Given the description of an element on the screen output the (x, y) to click on. 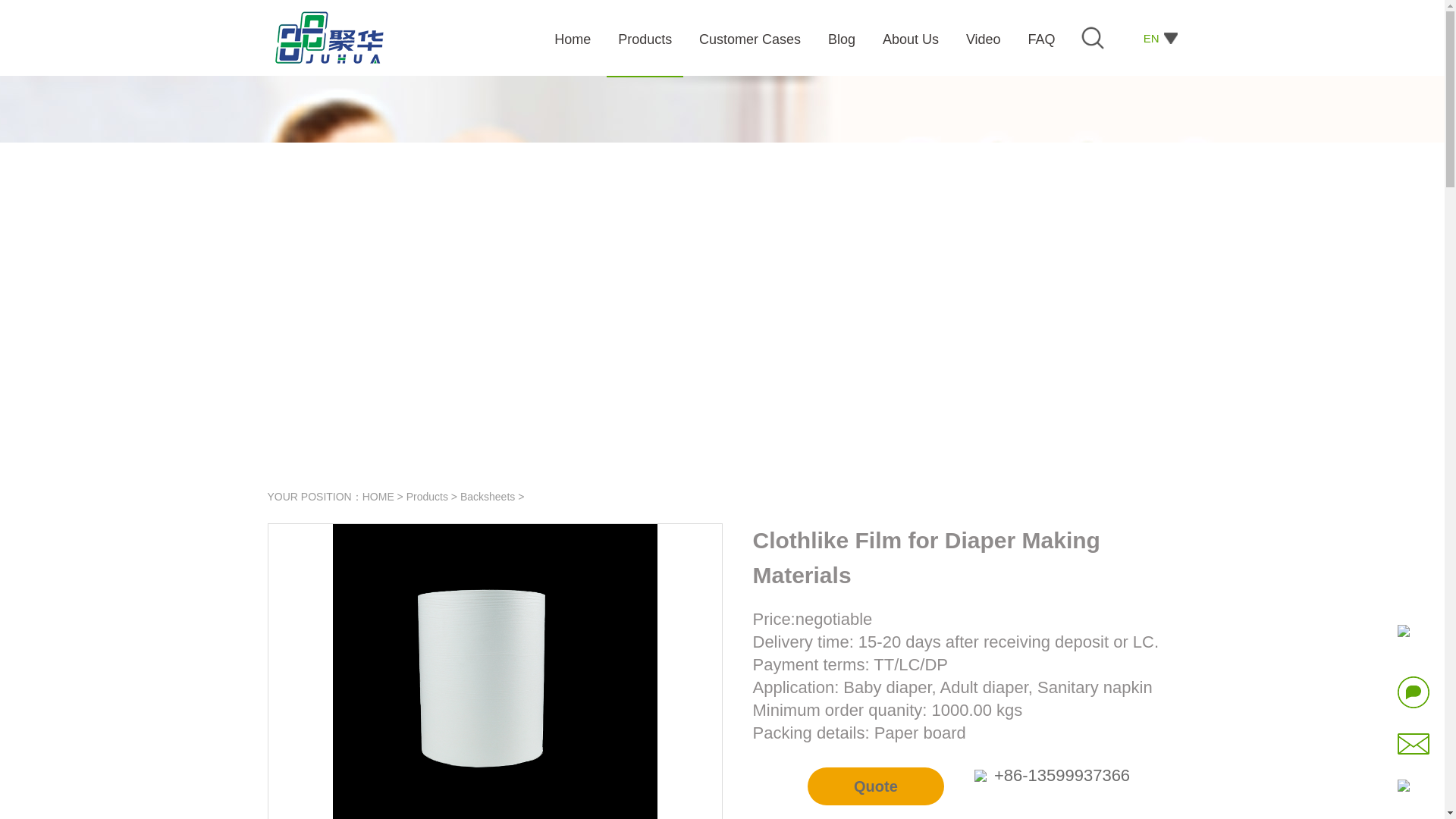
Customer Cases (751, 43)
HOME (378, 496)
About Us (912, 43)
Backsheets (487, 496)
Products (427, 496)
